Given the description of an element on the screen output the (x, y) to click on. 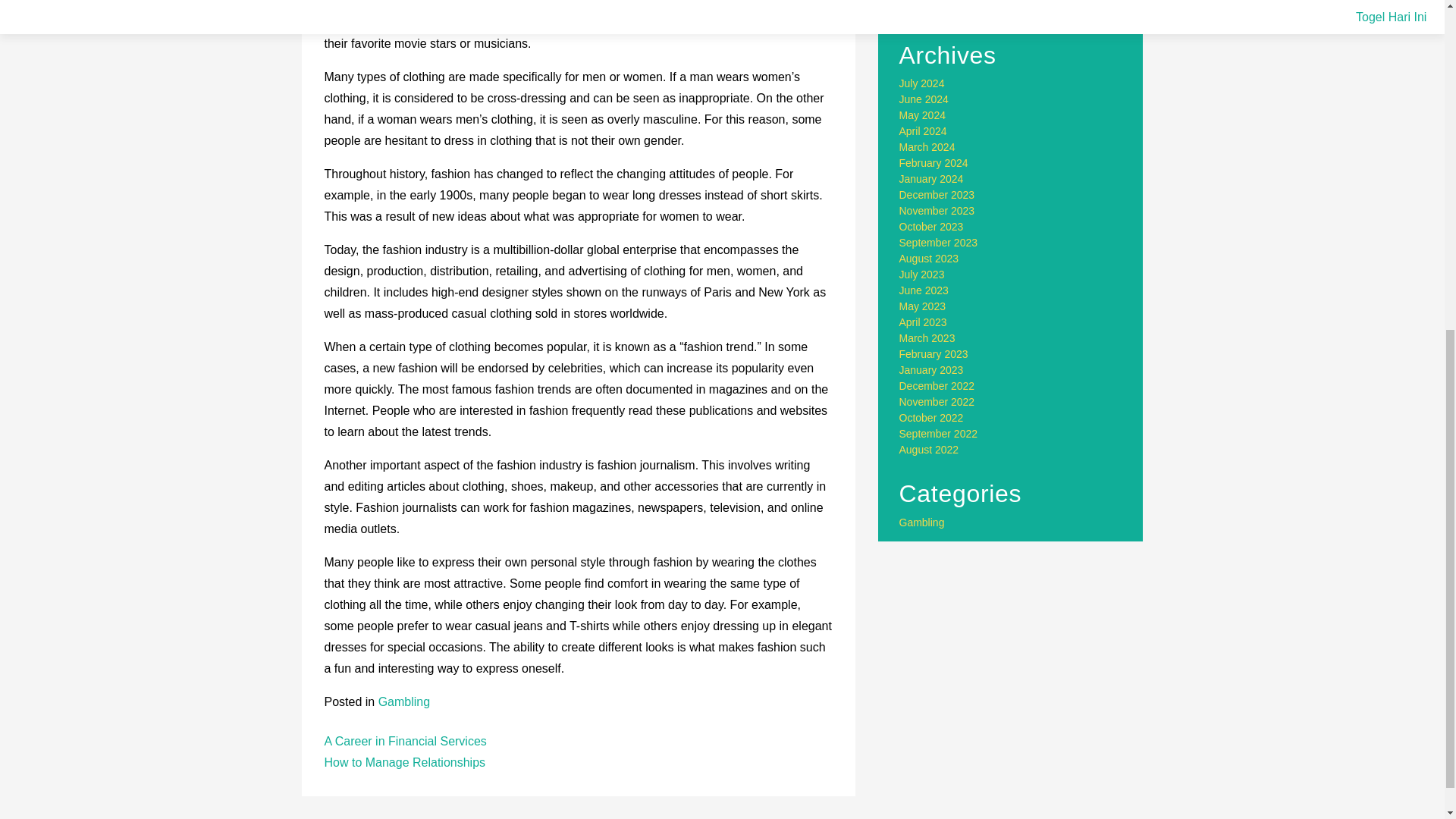
October 2023 (931, 226)
November 2023 (937, 210)
June 2024 (924, 99)
May 2023 (921, 306)
April 2023 (923, 322)
November 2022 (937, 401)
December 2023 (937, 194)
July 2024 (921, 82)
September 2022 (938, 433)
February 2024 (933, 162)
